Given the description of an element on the screen output the (x, y) to click on. 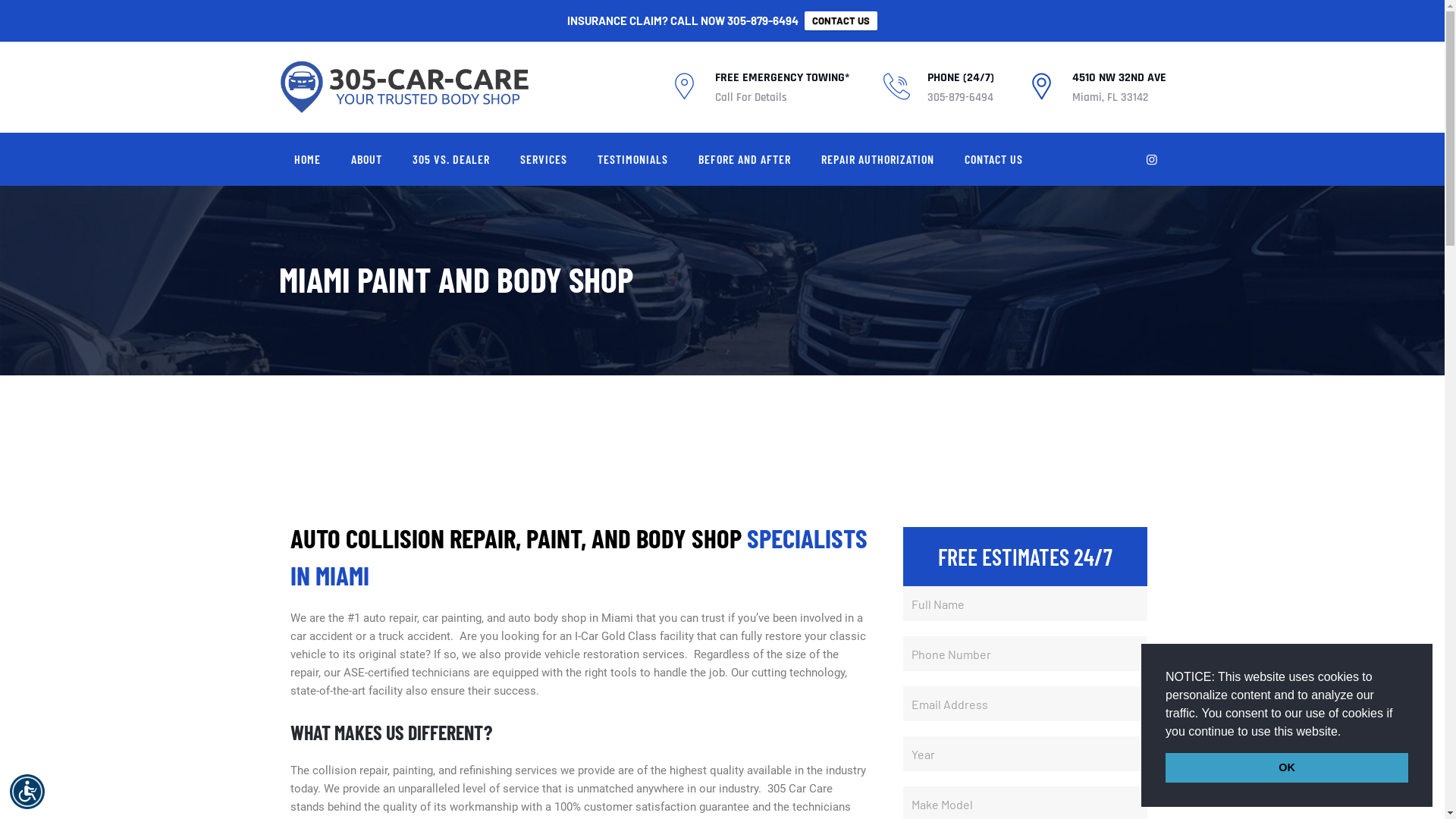
305-879-6494 Element type: text (762, 20)
305 VS. DEALER Element type: text (450, 158)
REPAIR AUTHORIZATION Element type: text (876, 158)
HOME Element type: text (307, 158)
305 Car Care Element type: hover (404, 86)
ABOUT Element type: text (365, 158)
TESTIMONIALS Element type: text (632, 158)
OK Element type: text (1286, 767)
CONTACT US Element type: text (840, 20)
CONTACT US Element type: text (993, 158)
BEFORE AND AFTER Element type: text (743, 158)
PHONE (24/7)
305-879-6494 Element type: text (959, 86)
SERVICES Element type: text (543, 158)
